Given the description of an element on the screen output the (x, y) to click on. 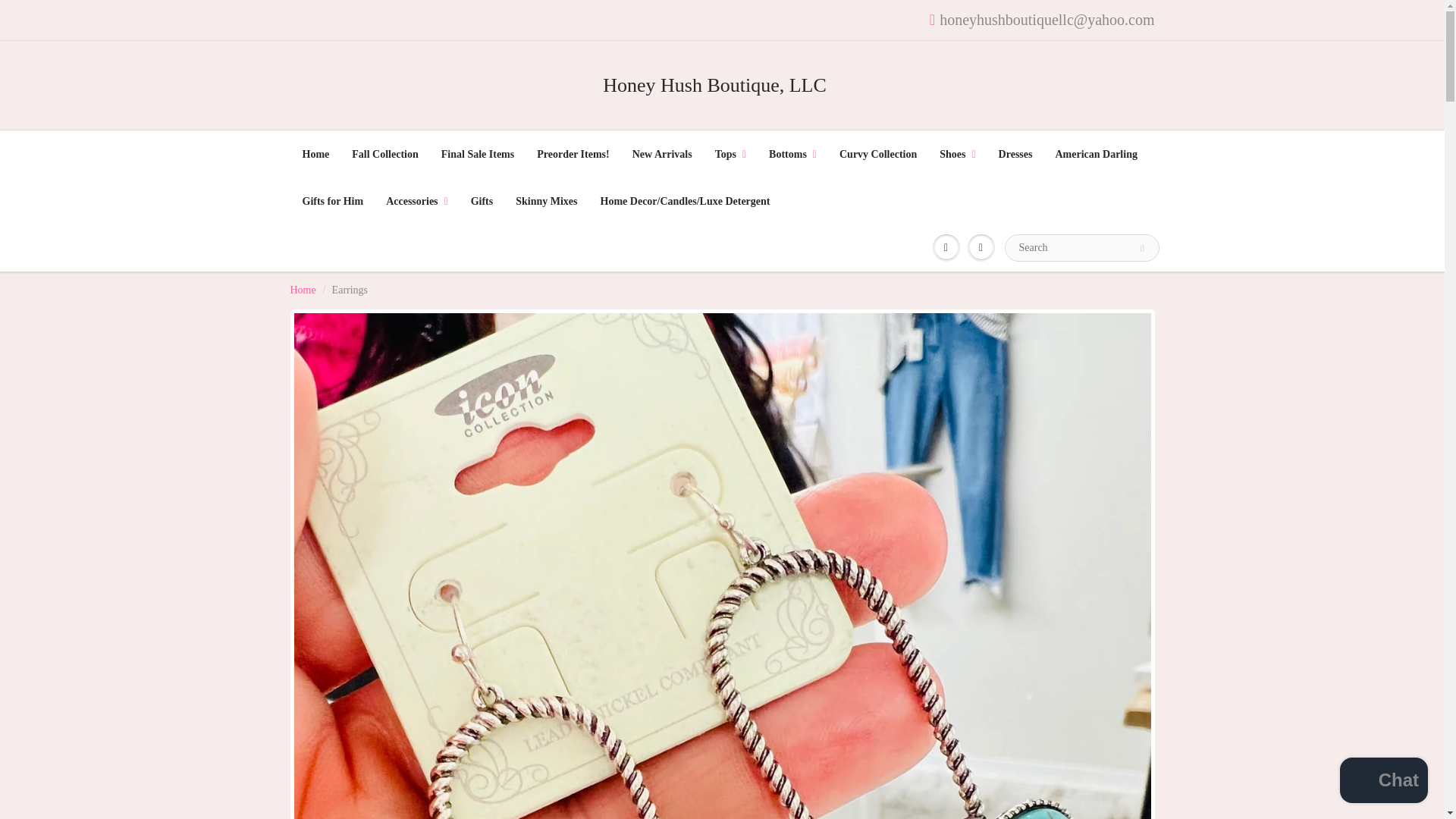
Fall Collection (384, 154)
Home (302, 289)
Accessories (417, 201)
Preorder Items! (573, 154)
New Arrivals (662, 154)
Dresses (1015, 154)
Bottoms (792, 154)
Home (315, 154)
Gifts for Him (333, 201)
Shoes (957, 154)
